Given the description of an element on the screen output the (x, y) to click on. 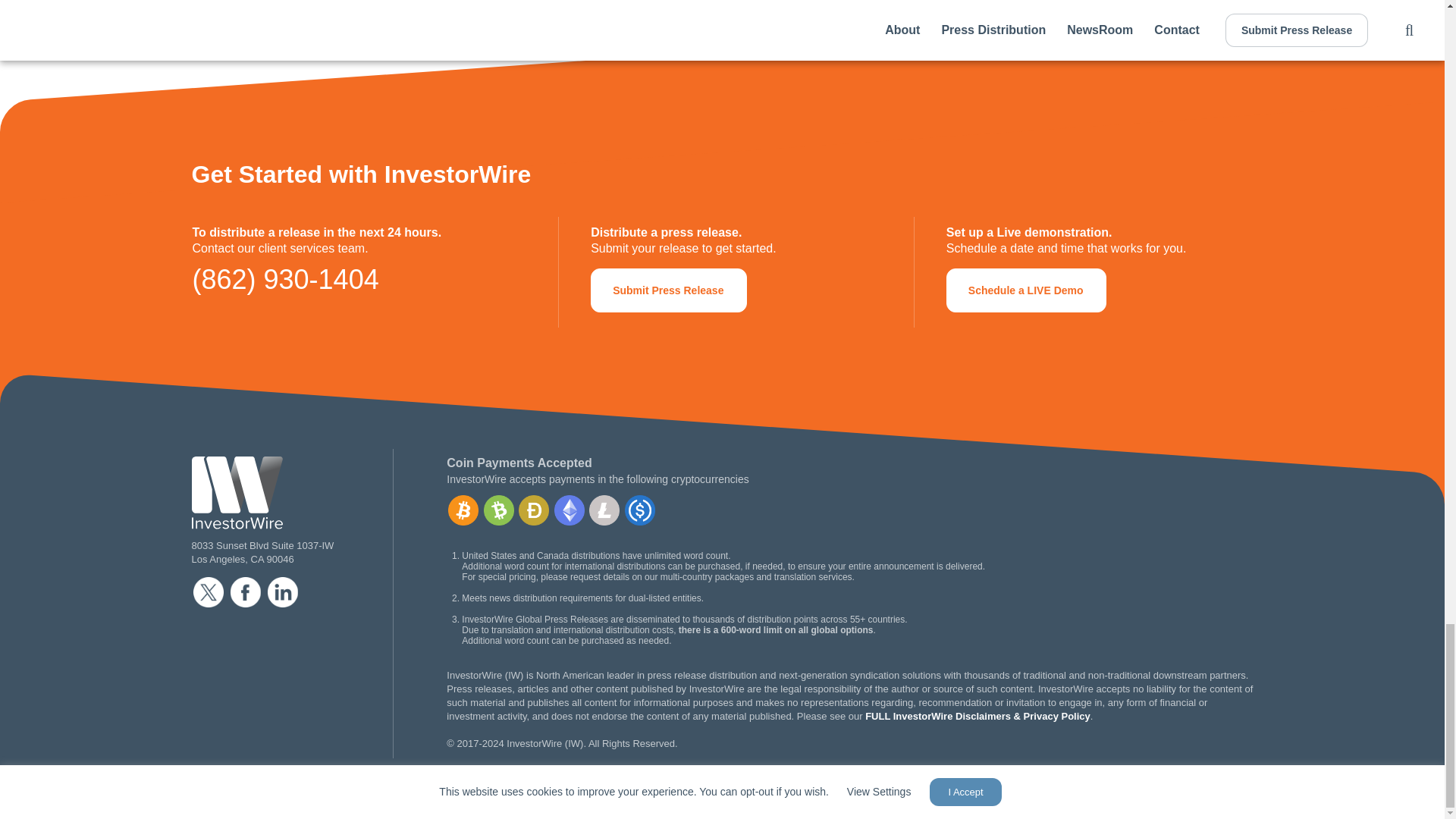
Bitcoin (463, 510)
Bitcoin Cash (498, 510)
